Given the description of an element on the screen output the (x, y) to click on. 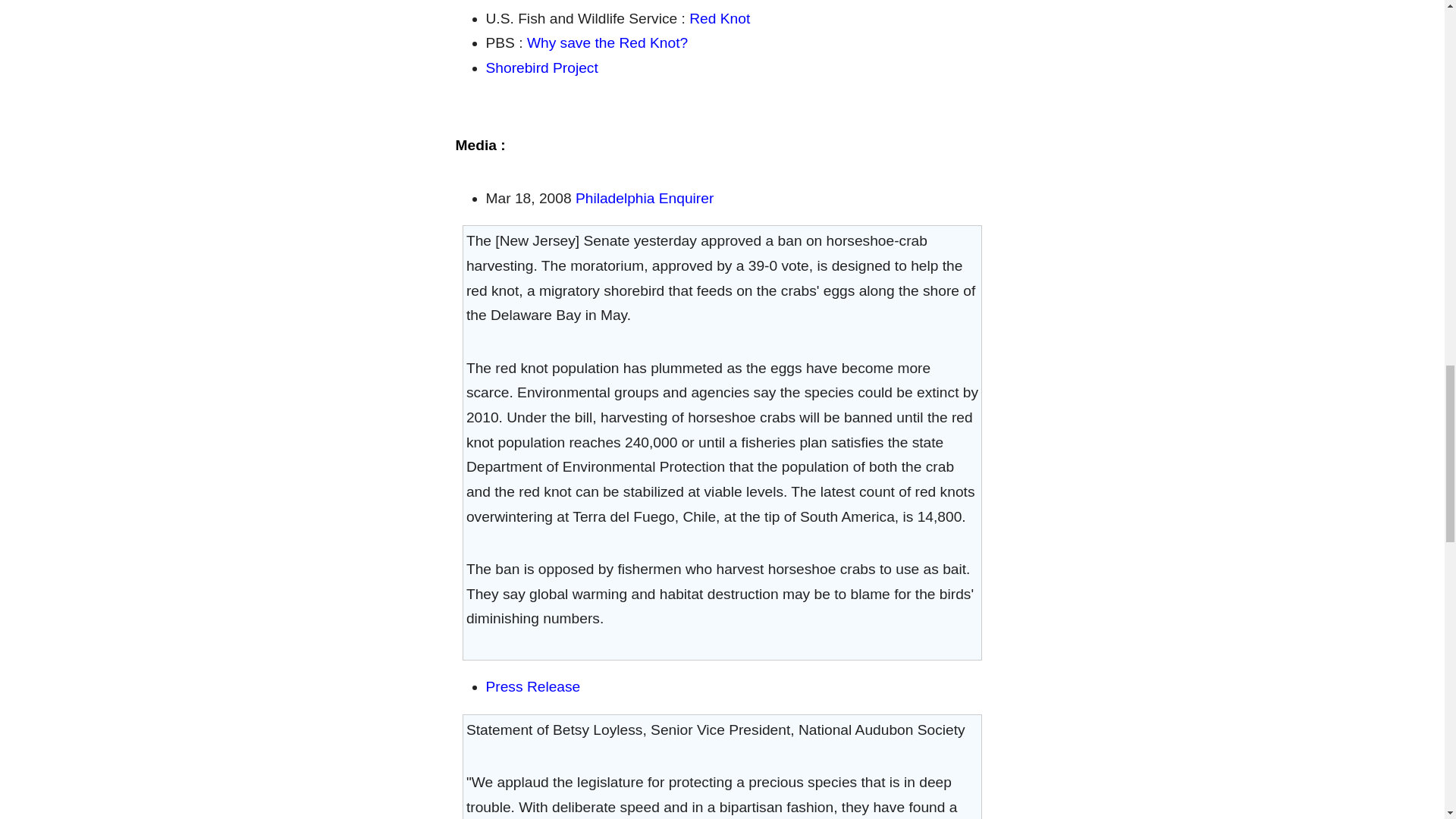
Shorebird Project (540, 67)
Why save the Red Knot? (607, 42)
Press Release (531, 686)
Philadelphia Enquirer (644, 198)
Red Knot (580, 0)
Red Knot (718, 18)
